Given the description of an element on the screen output the (x, y) to click on. 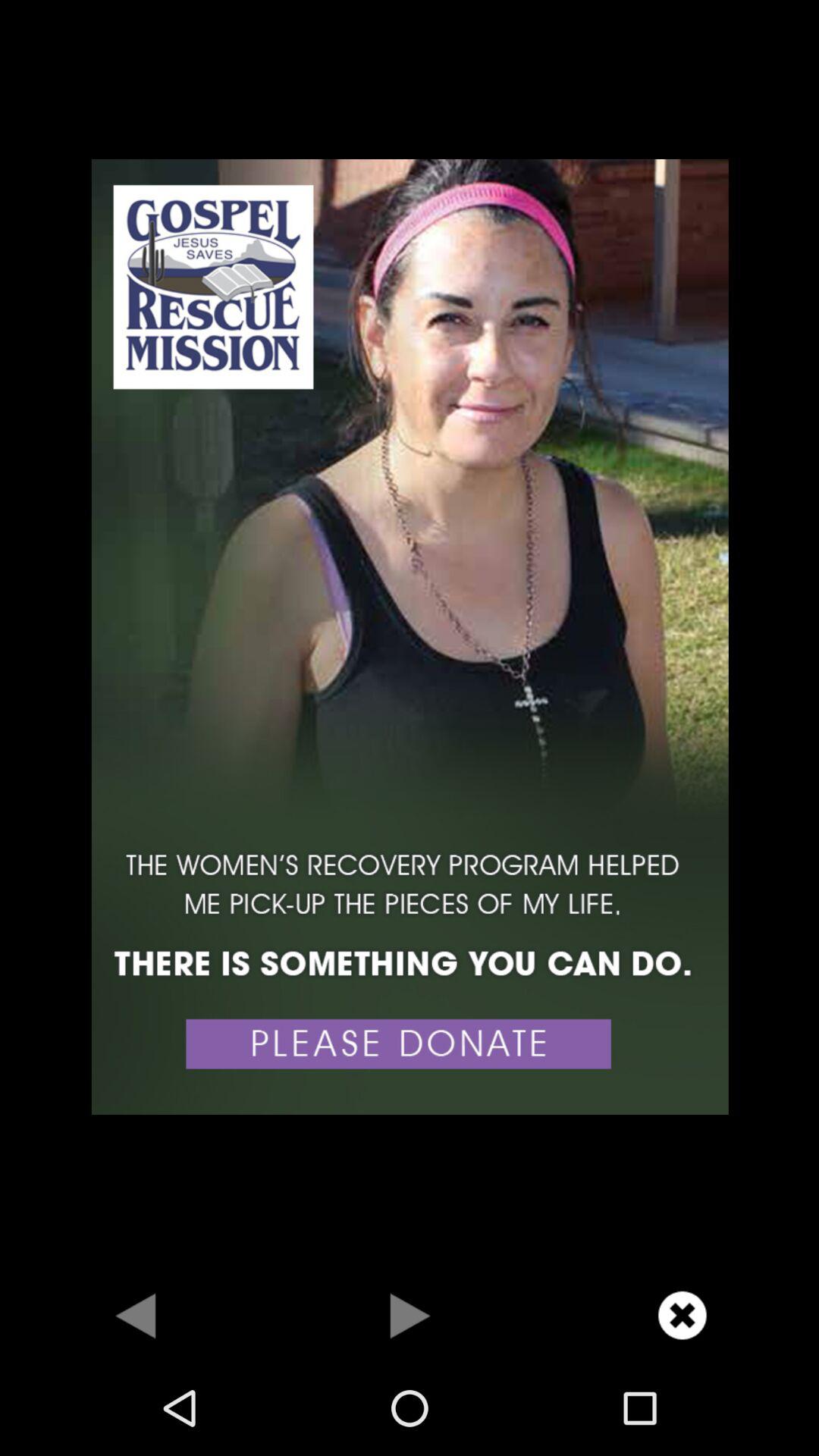
play (409, 1315)
